Given the description of an element on the screen output the (x, y) to click on. 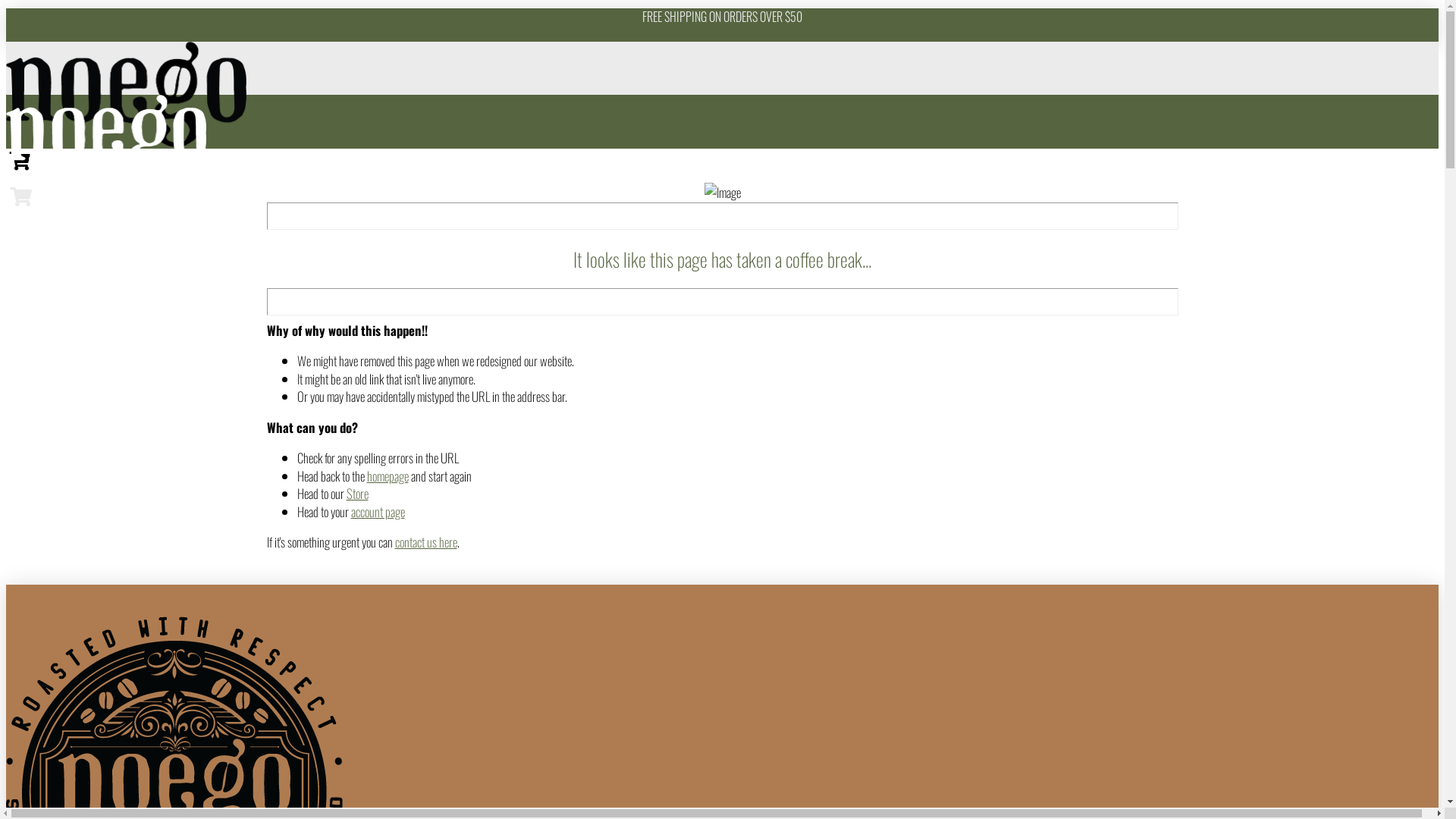
contact us here Element type: text (425, 541)
homepage Element type: text (387, 475)
Store Element type: text (356, 492)
account page Element type: text (377, 511)
